Given the description of an element on the screen output the (x, y) to click on. 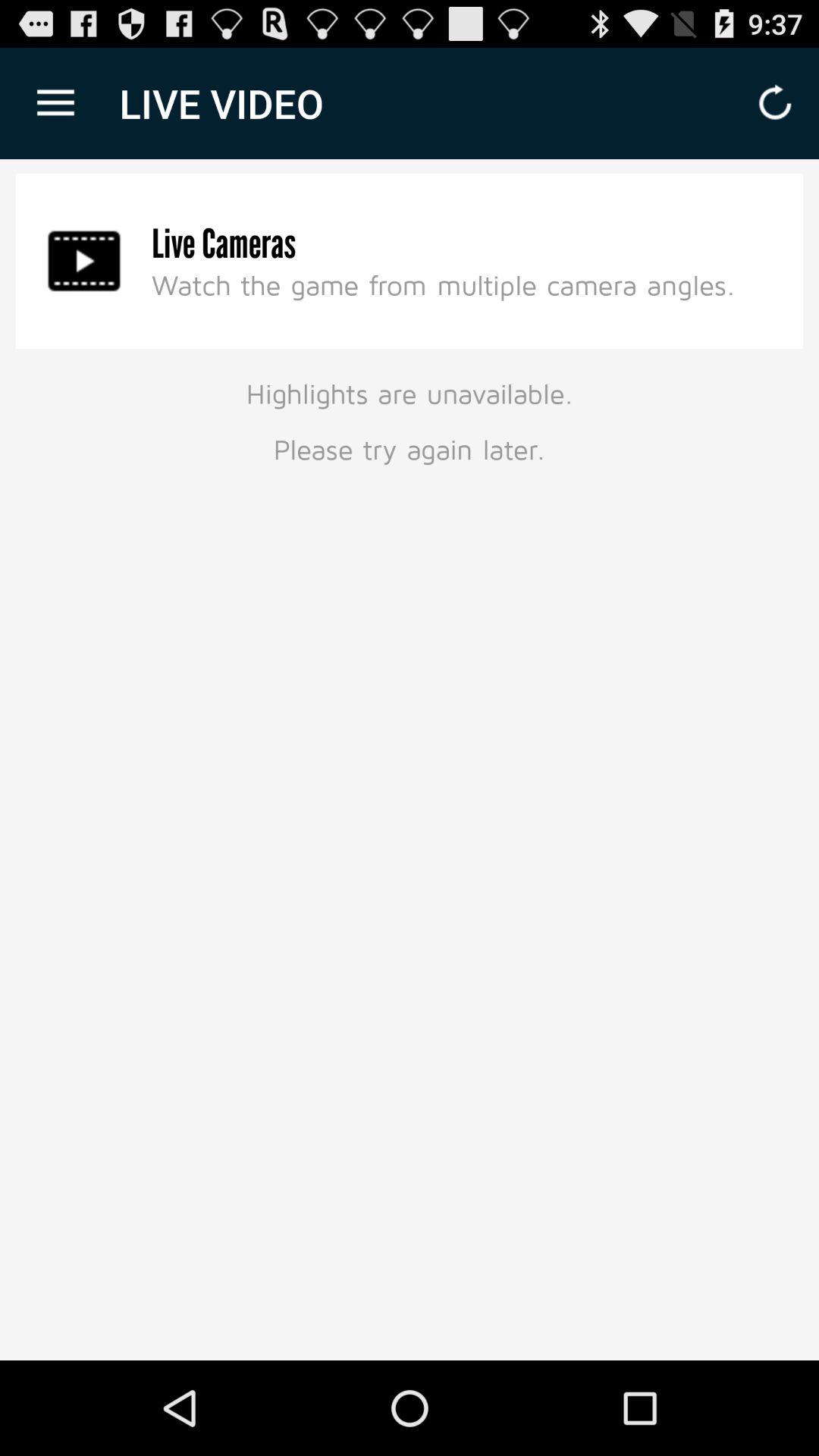
turn on the icon next to the live cameras (83, 260)
